Given the description of an element on the screen output the (x, y) to click on. 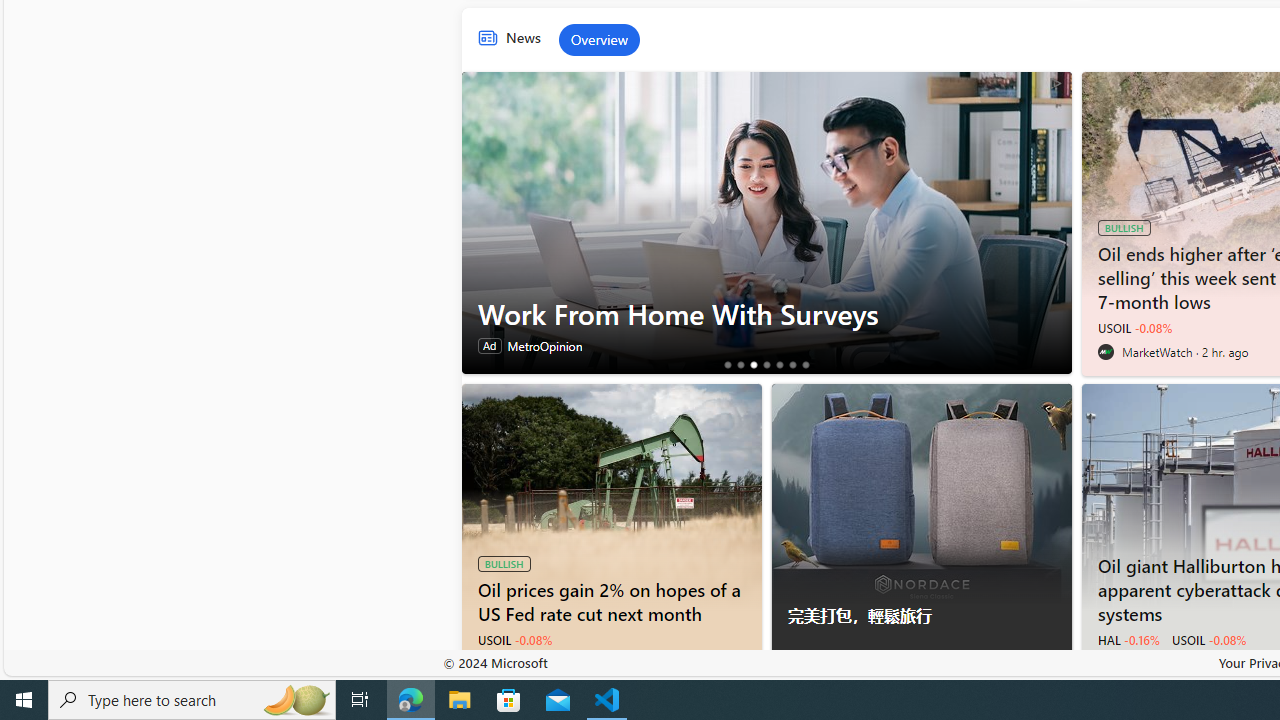
HAL -0.16% (1127, 640)
USOIL -0.08% (1208, 640)
MarketWatch (1104, 352)
CNN (1104, 663)
Work From Home With Surveys (766, 222)
